Given the description of an element on the screen output the (x, y) to click on. 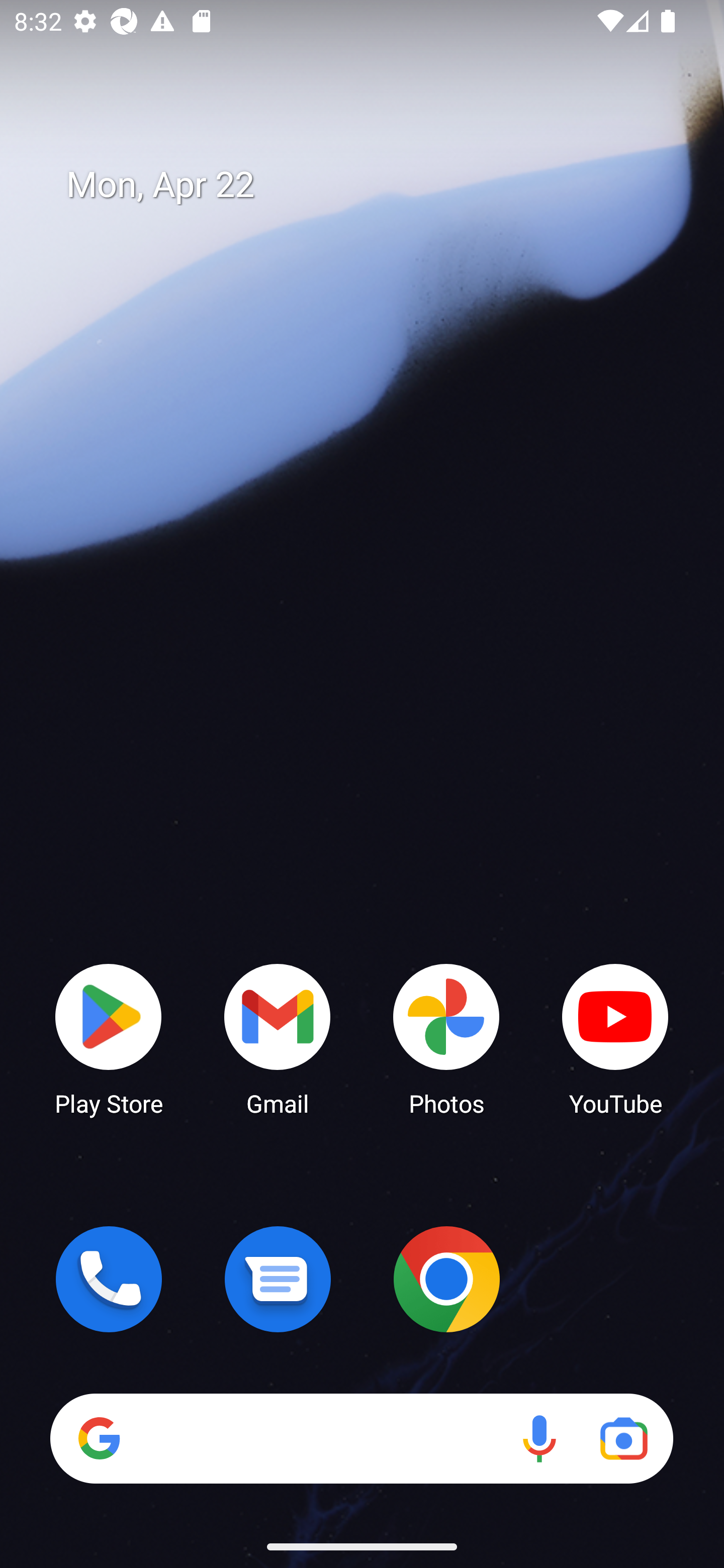
Mon, Apr 22 (375, 184)
Play Store (108, 1038)
Gmail (277, 1038)
Photos (445, 1038)
YouTube (615, 1038)
Phone (108, 1279)
Messages (277, 1279)
Chrome (446, 1279)
Search Voice search Google Lens (361, 1438)
Voice search (539, 1438)
Google Lens (623, 1438)
